Given the description of an element on the screen output the (x, y) to click on. 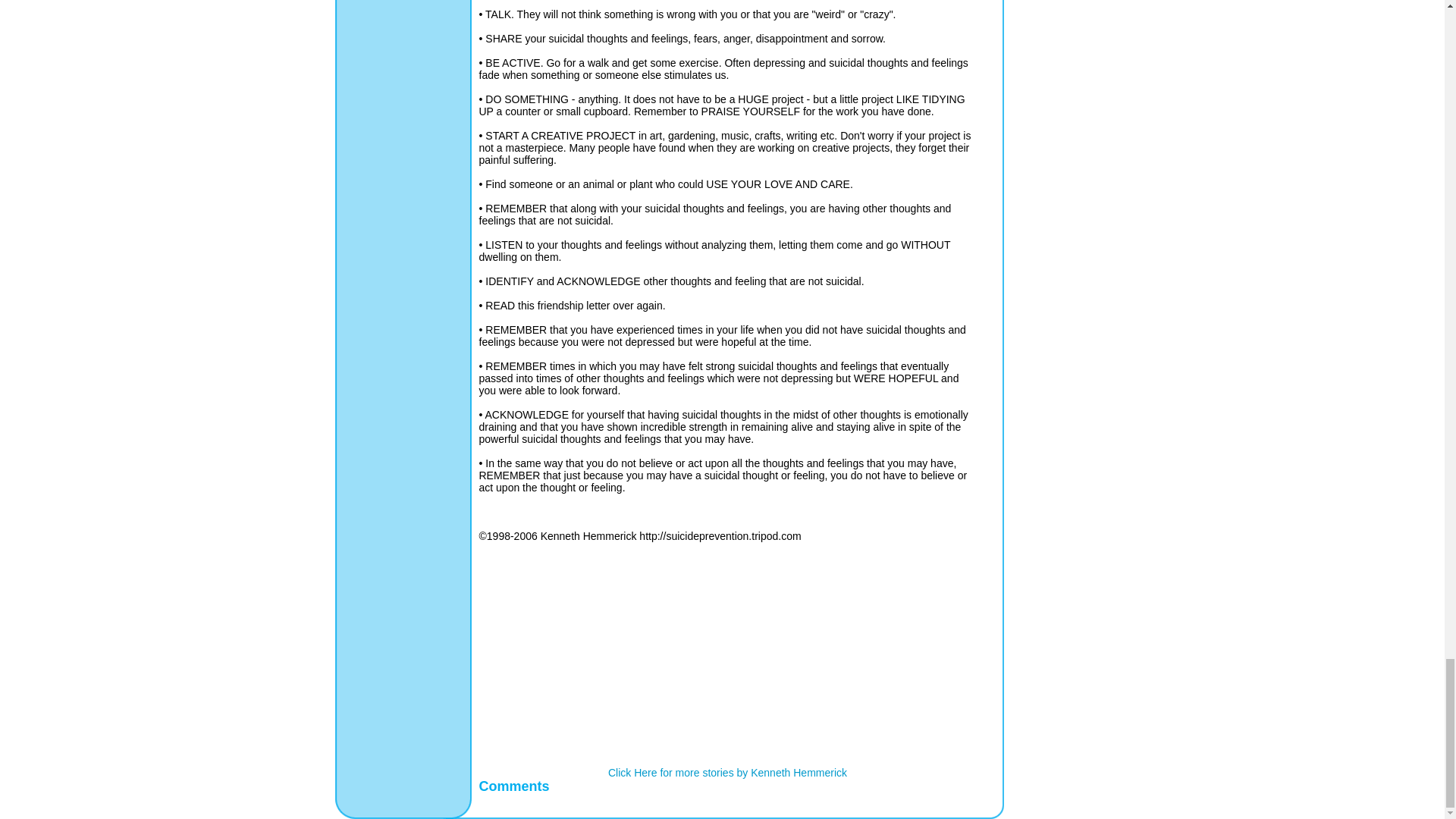
Click Here for more stories by Kenneth Hemmerick (727, 772)
